Given the description of an element on the screen output the (x, y) to click on. 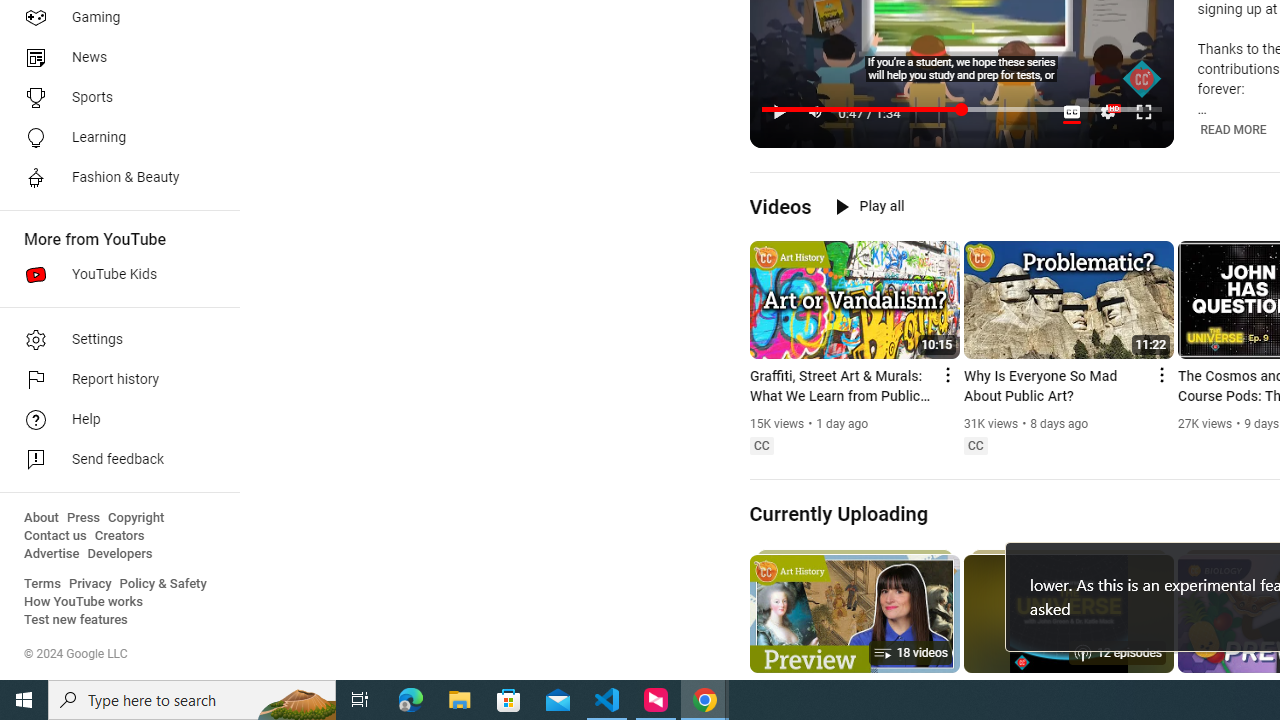
READ MORE (1233, 129)
Currently Uploading (838, 513)
Subtitles/closed captions unavailable (1071, 112)
Sports (113, 97)
Policy & Safety (163, 584)
Videos (779, 206)
Closed captions (975, 446)
Fashion & Beauty (113, 177)
Pause (k) (779, 112)
Play all (870, 206)
Seek slider (961, 109)
Channel watermark (1141, 79)
Contact us (55, 536)
